Given the description of an element on the screen output the (x, y) to click on. 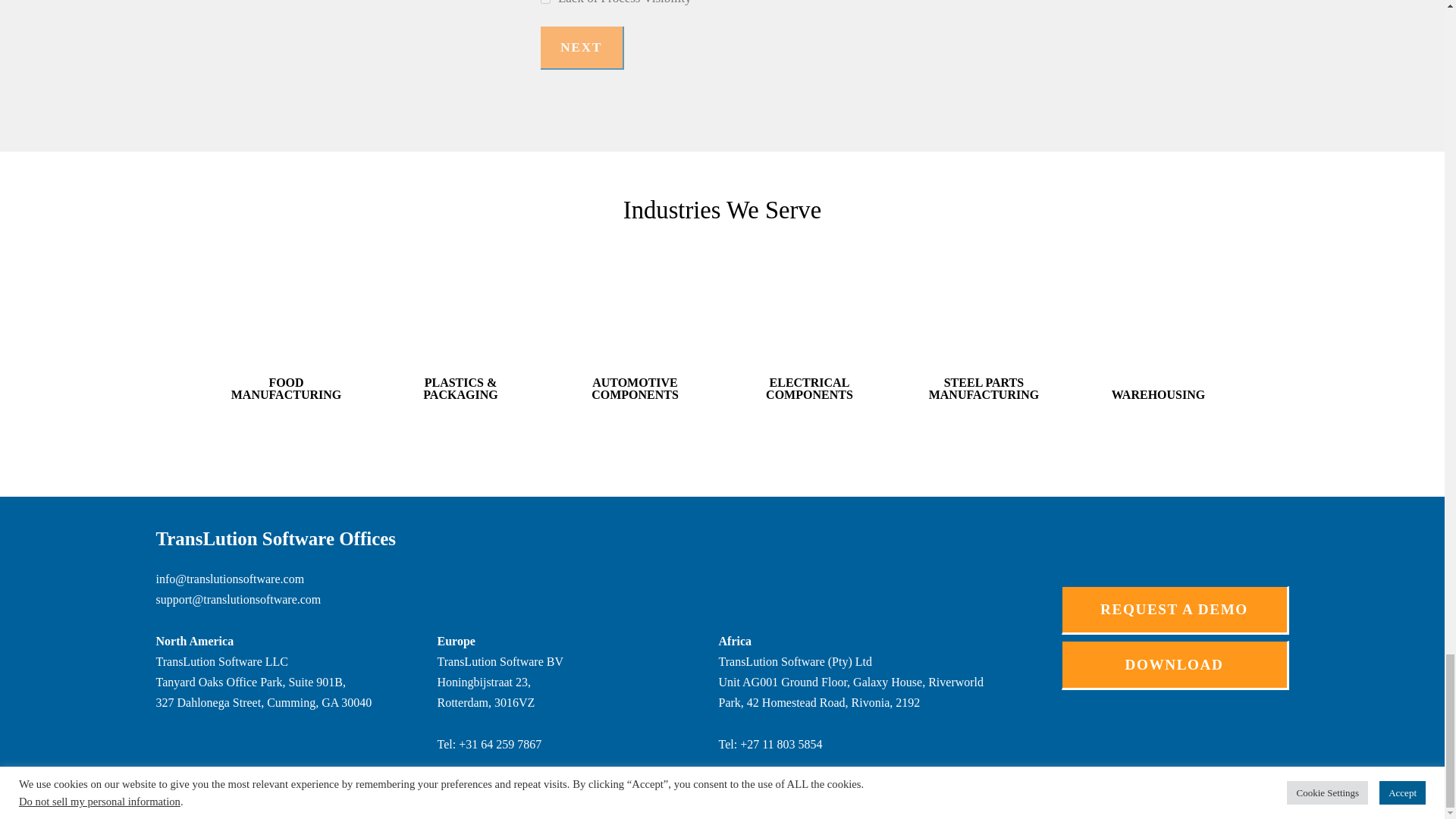
Lack of Process Visibility (545, 2)
Next (581, 47)
